Given the description of an element on the screen output the (x, y) to click on. 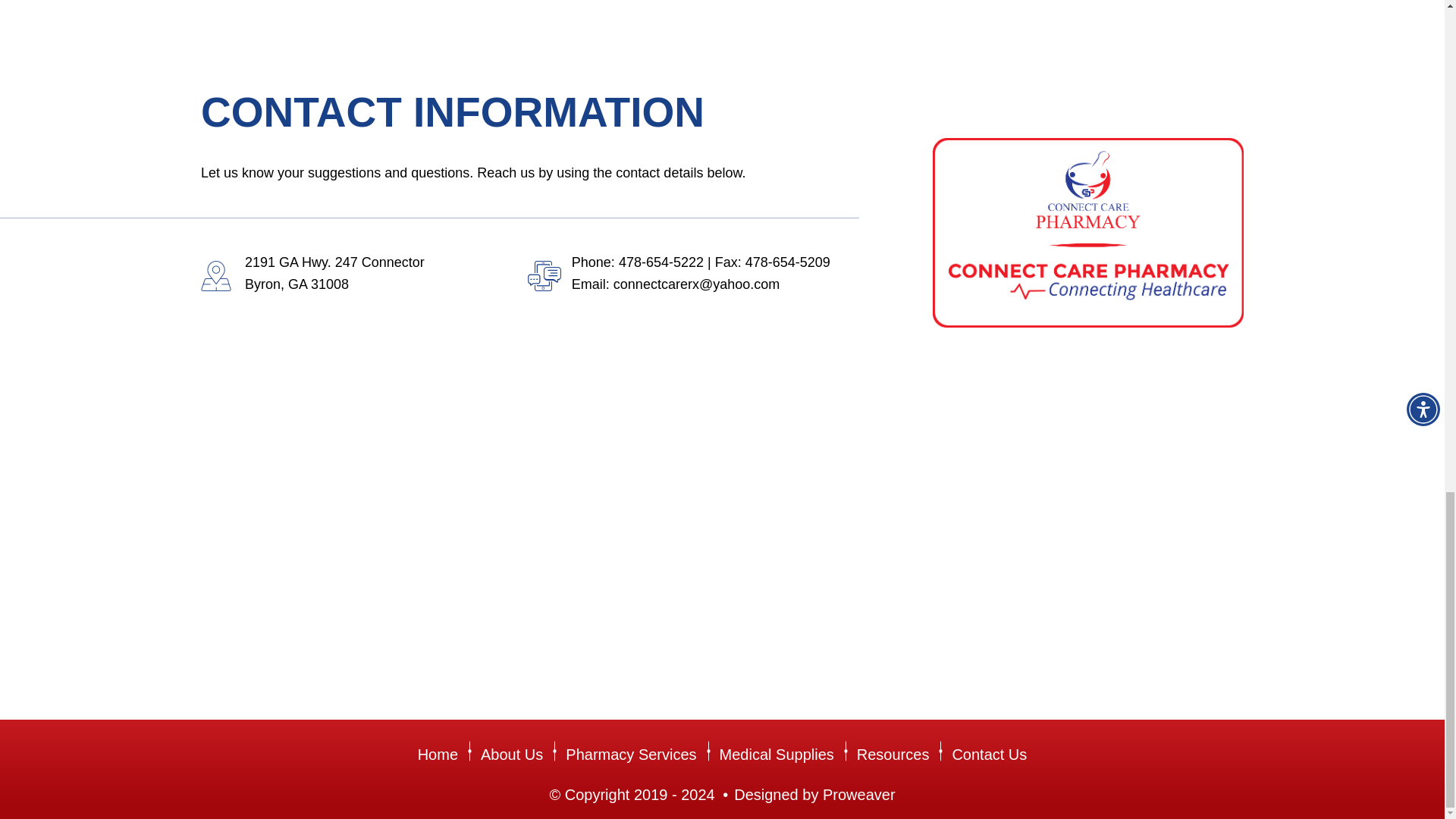
Pharmacy Services (630, 754)
Proweaver (858, 794)
Resources (892, 754)
Contact Us (983, 754)
Home (442, 754)
Medical Supplies (776, 754)
About Us (511, 754)
